Given the description of an element on the screen output the (x, y) to click on. 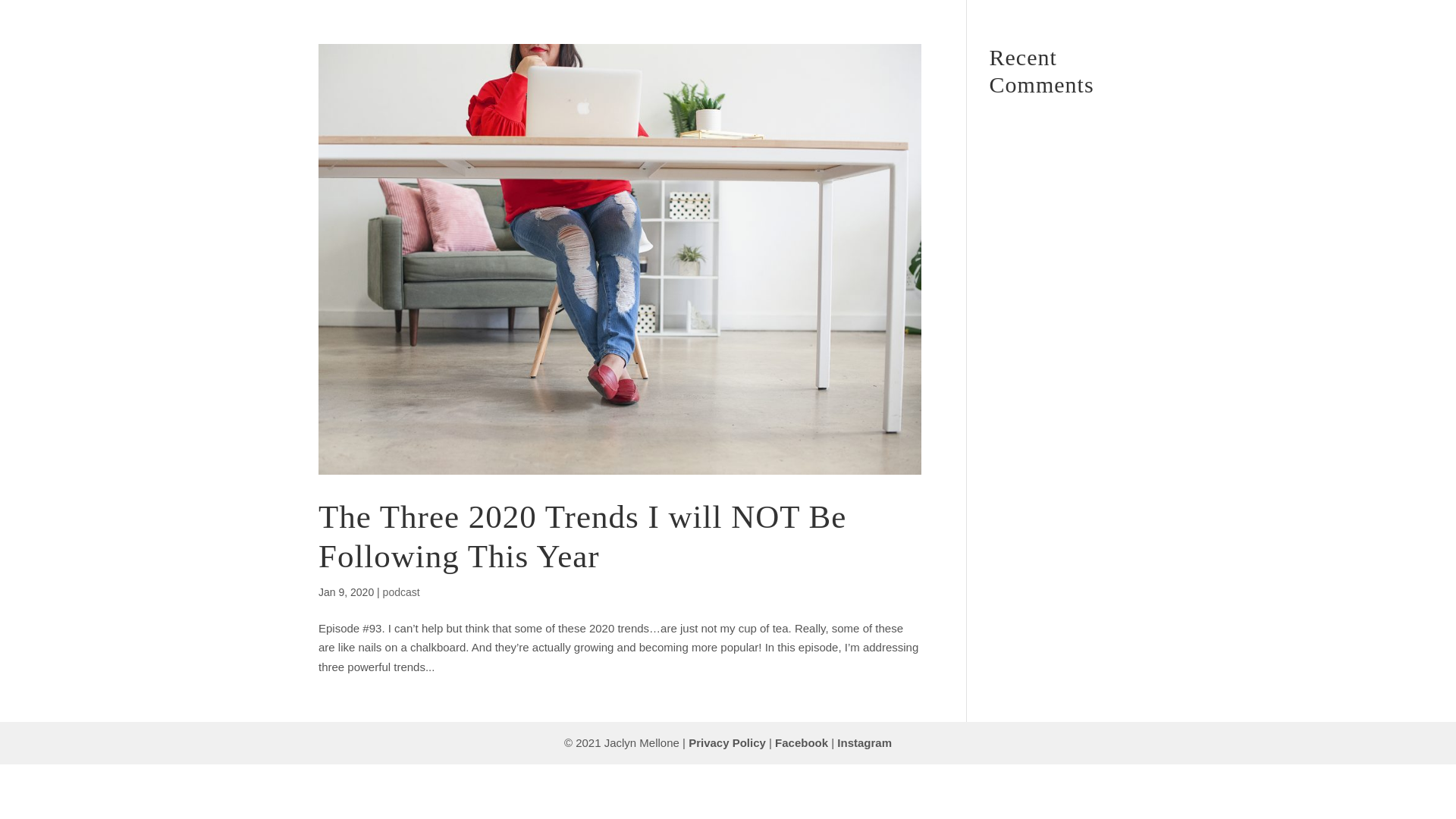
The Three 2020 Trends I will NOT Be Following This Year (581, 536)
podcast (401, 592)
Facebook (801, 742)
Privacy Policy (726, 742)
Instagram (864, 742)
